Given the description of an element on the screen output the (x, y) to click on. 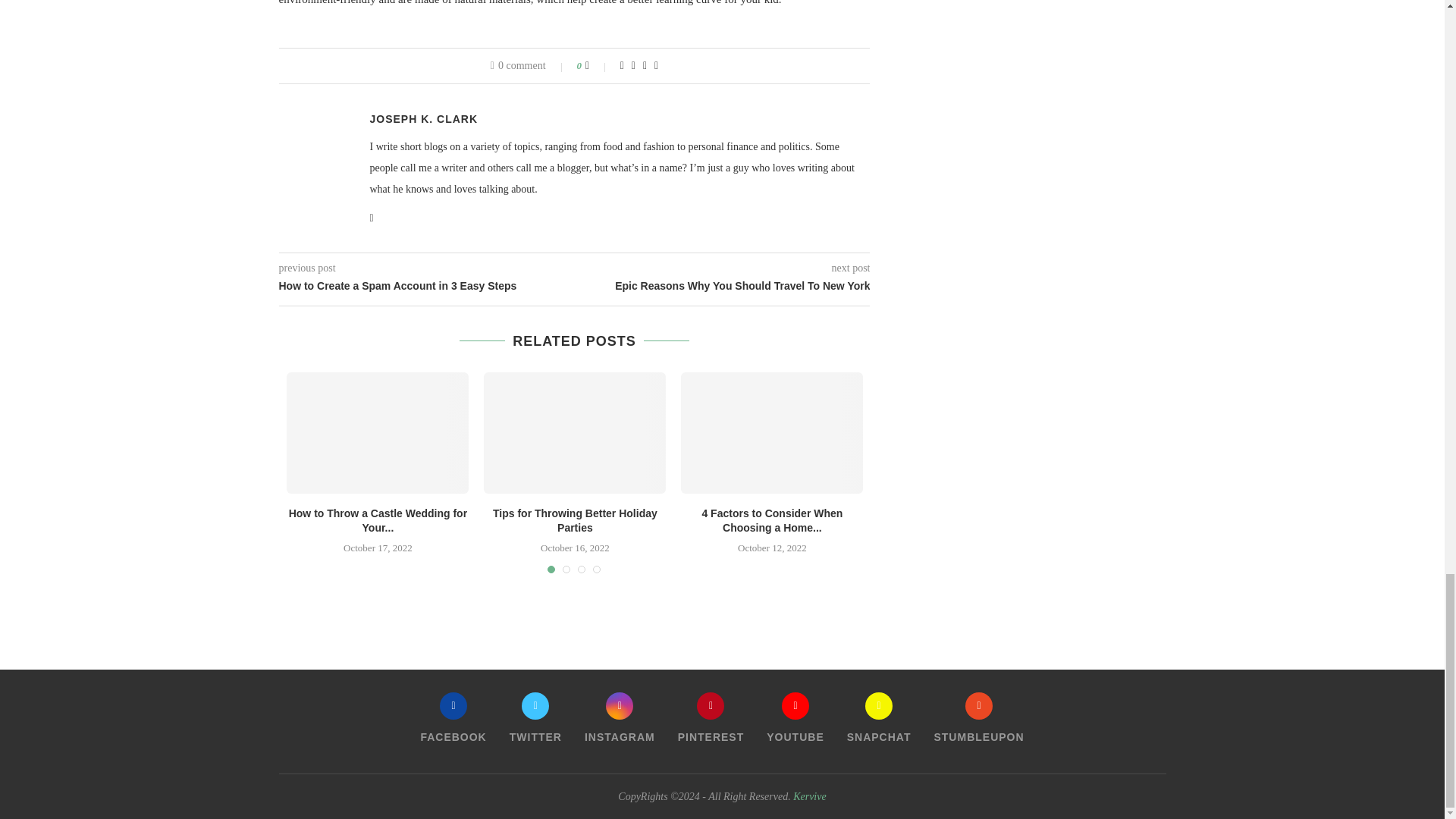
Posts by Joseph K. Clark (424, 119)
4 Factors to Consider When Choosing a Home Care Provider (772, 432)
Like (597, 65)
How to Throw a Castle Wedding for Your Wedding (377, 432)
Tips for Throwing Better Holiday Parties (574, 432)
